Given the description of an element on the screen output the (x, y) to click on. 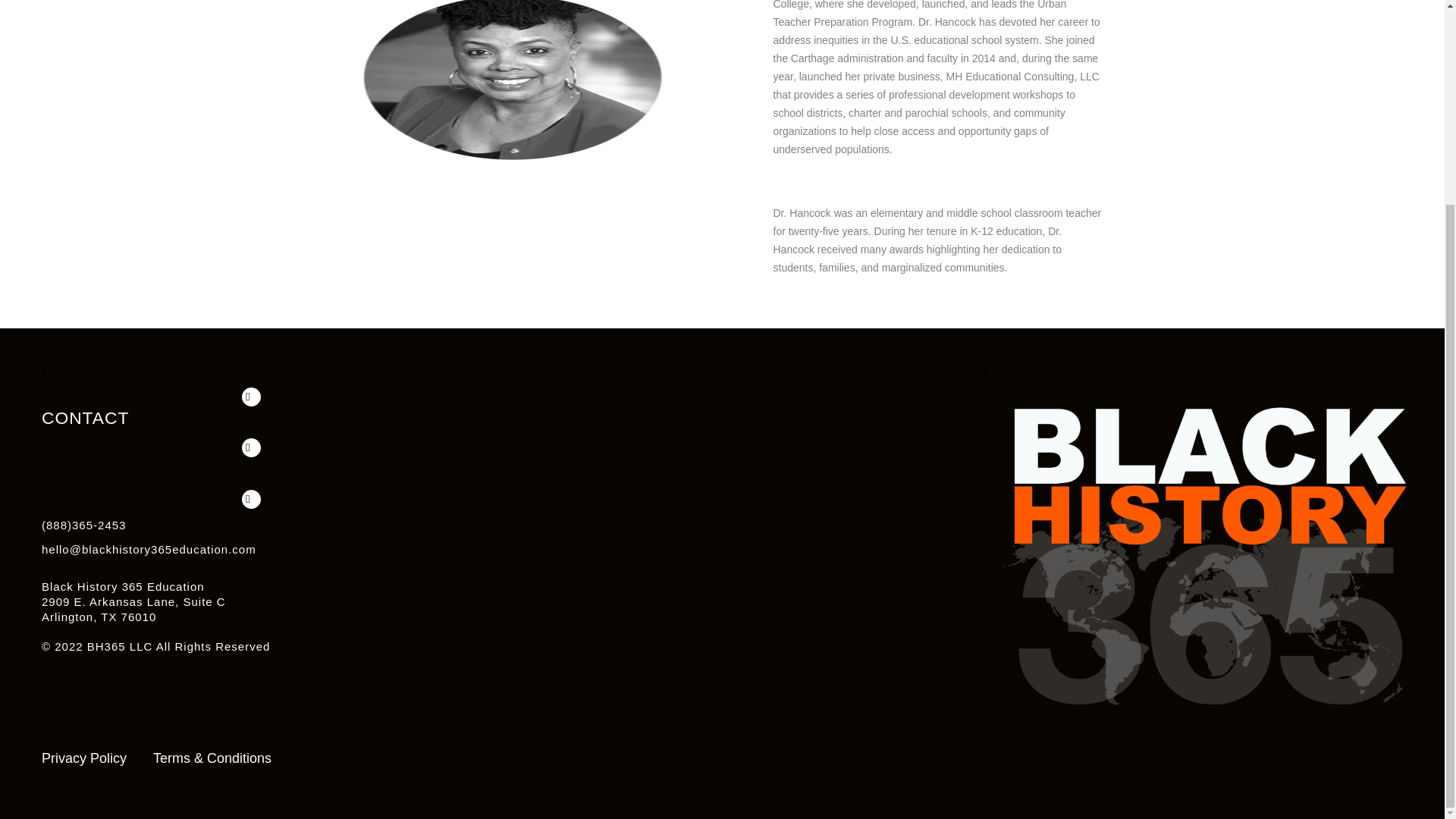
Privacy Policy (84, 758)
